Given the description of an element on the screen output the (x, y) to click on. 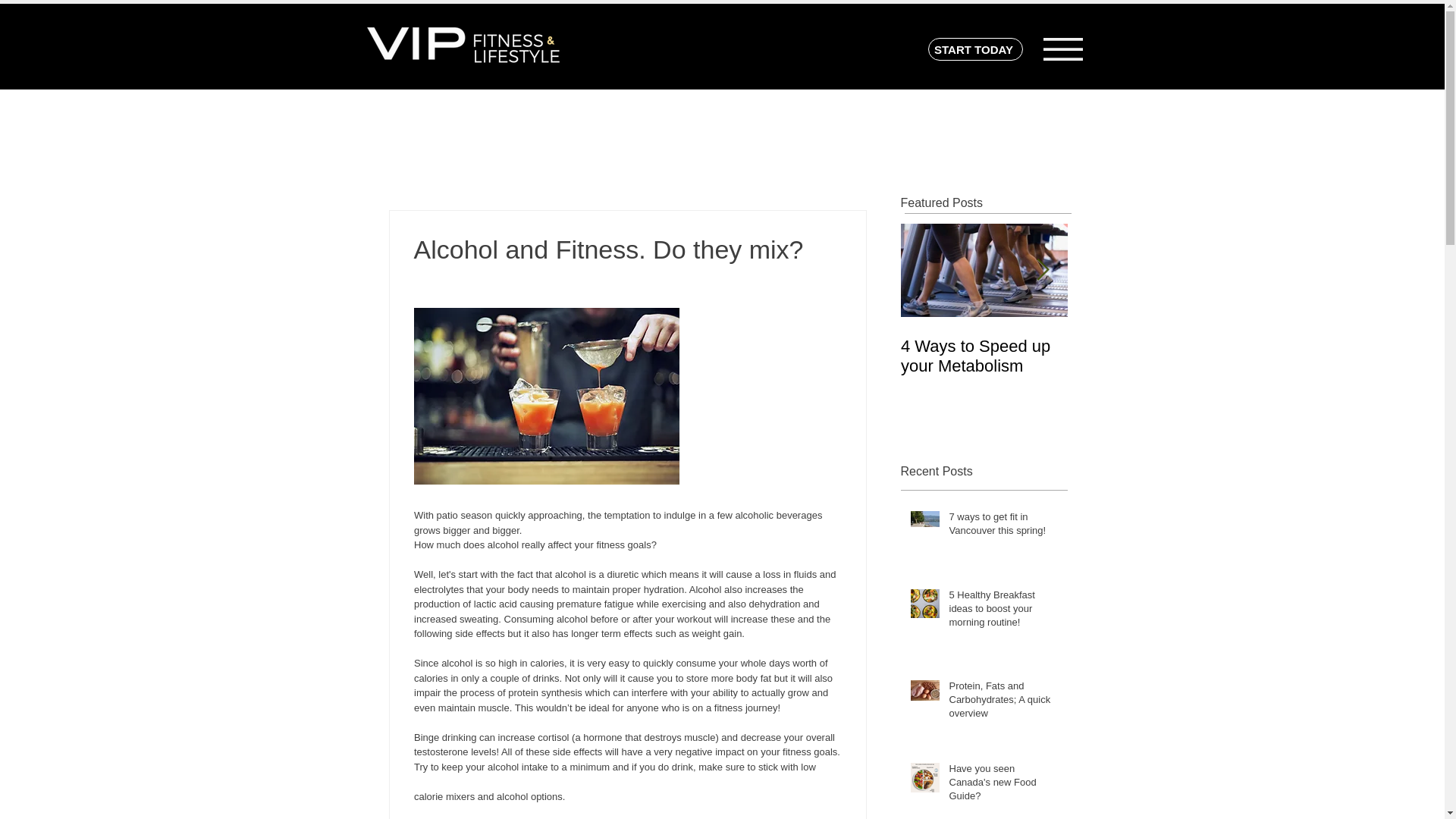
4 Ways to Speed up your Metabolism (984, 355)
Protein, Fats and Carbohydrates; A quick overview (1003, 703)
5 Healthy Breakfast ideas to boost your morning routine! (1003, 612)
START TODAY (975, 48)
Alcohol and Fitness. Do they mix? (1150, 355)
Have you seen Canada's new Food Guide? (1003, 785)
7 ways to get fit in Vancouver this spring! (1003, 526)
